Given the description of an element on the screen output the (x, y) to click on. 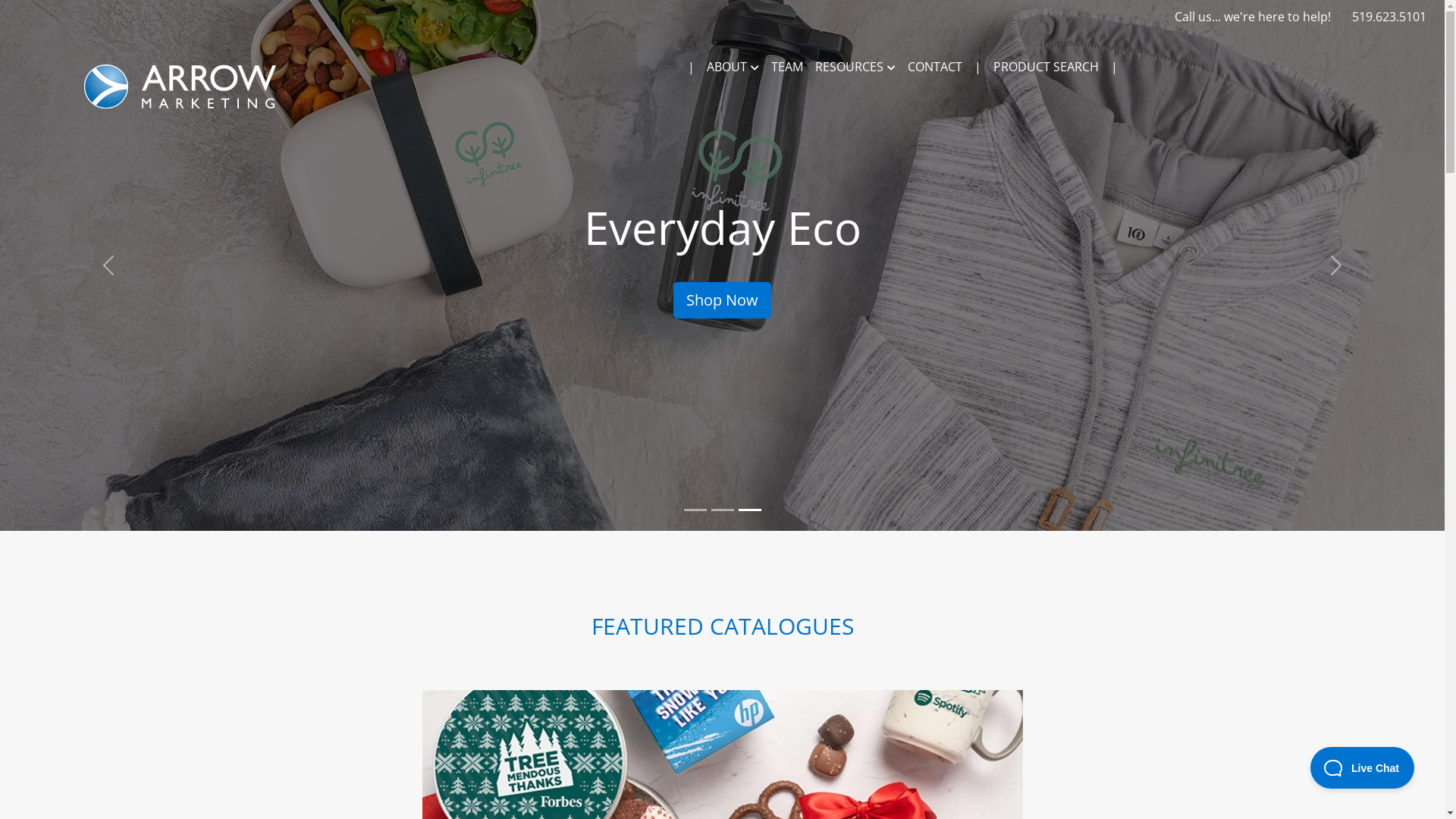
| Element type: text (1113, 66)
Next Element type: text (1335, 265)
PRODUCT SEARCH Element type: text (1045, 66)
CONTACT Element type: text (934, 66)
| Element type: text (690, 66)
Shop Now Element type: text (722, 300)
ABOUT Element type: text (732, 67)
| Element type: text (977, 66)
519.623.5101 Element type: text (1388, 16)
Call us... we're here to help! Element type: text (1252, 16)
Help Scout Beacon - Open Element type: hover (1362, 767)
RESOURCES Element type: text (855, 67)
Previous Element type: text (108, 265)
TEAM Element type: text (787, 66)
